Given the description of an element on the screen output the (x, y) to click on. 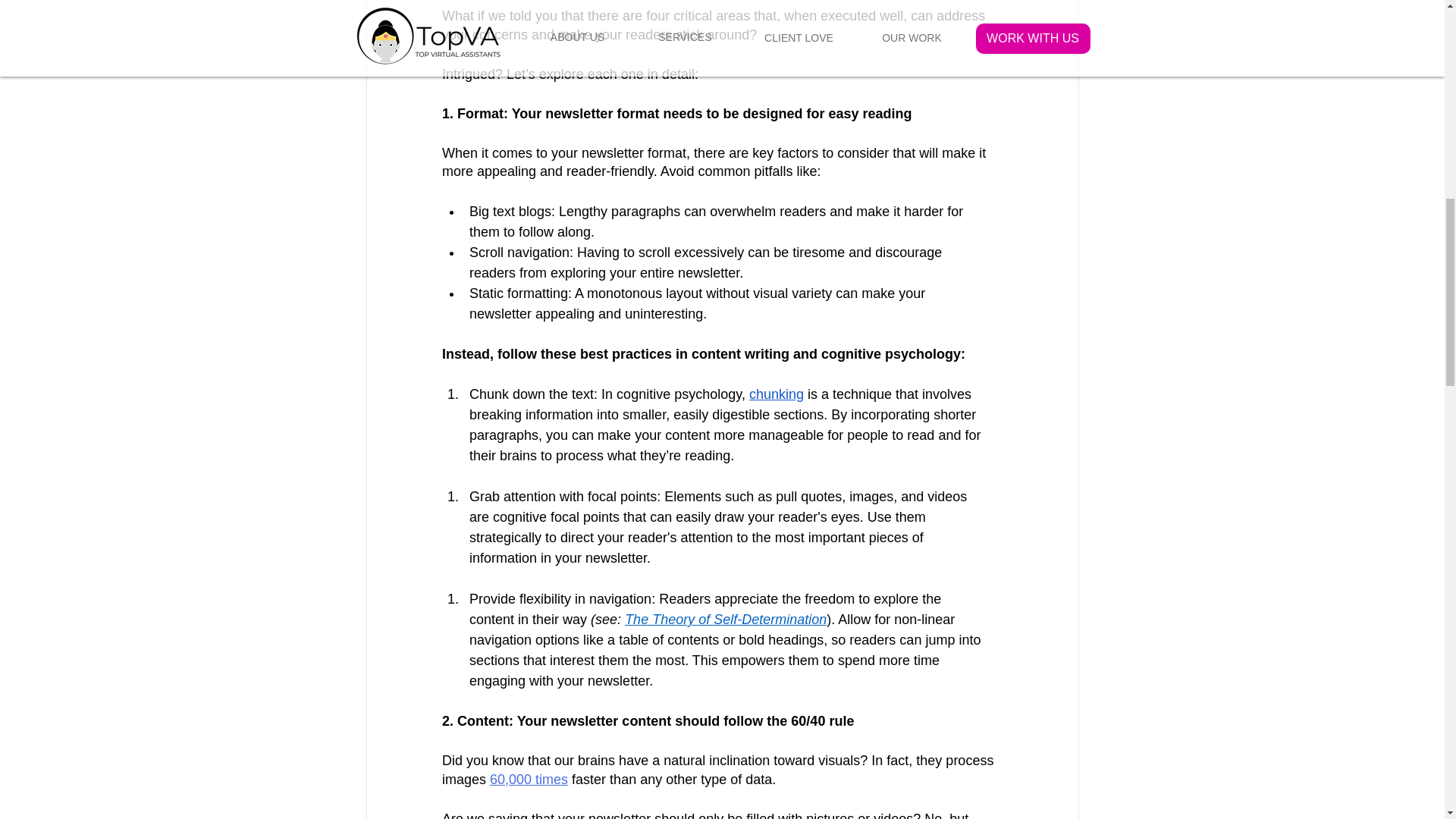
chunking (775, 394)
The Theory of Self-Determination (725, 619)
60,000 times (528, 779)
